Given the description of an element on the screen output the (x, y) to click on. 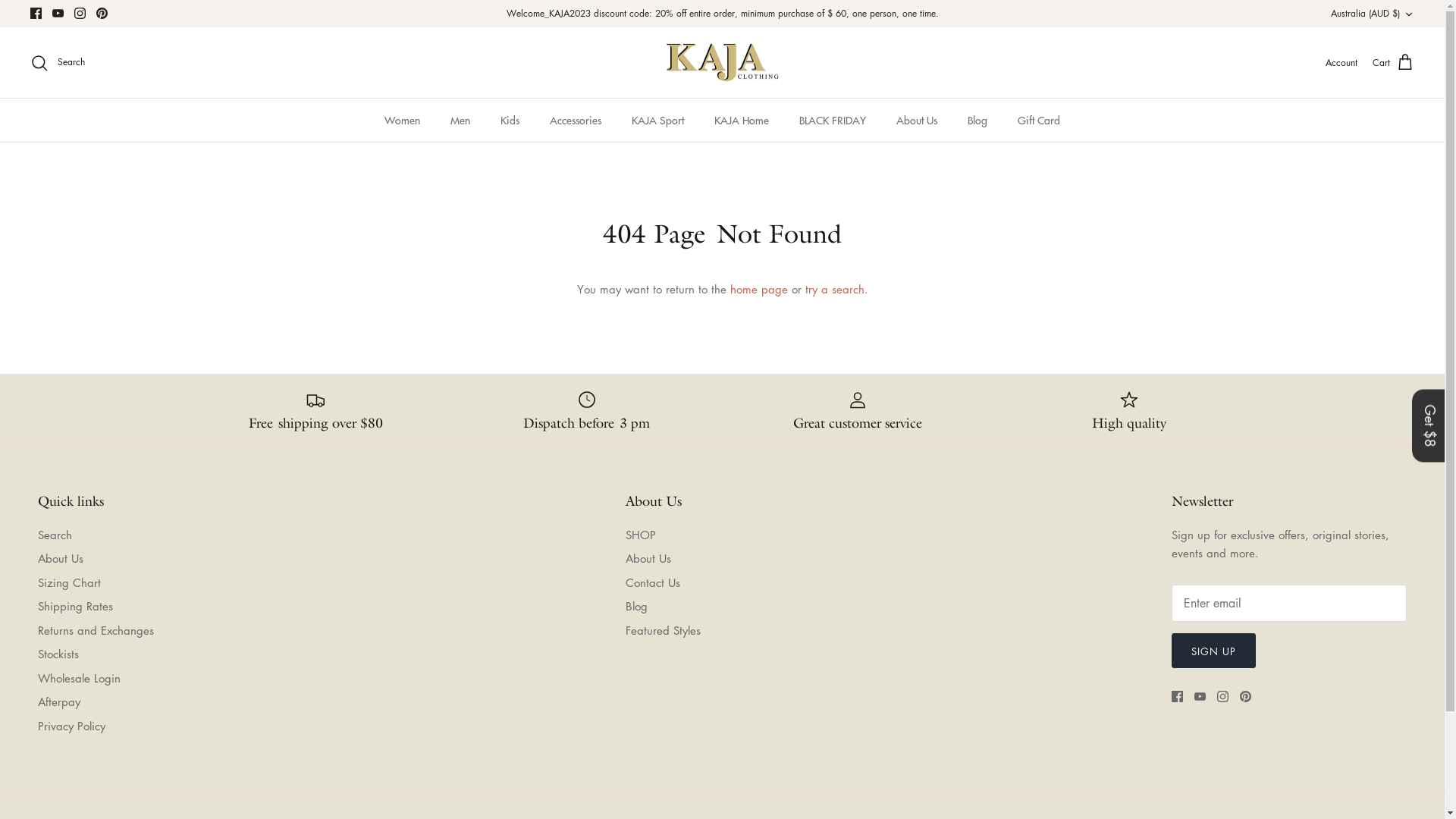
Youtube Element type: text (1199, 696)
KAJA Sport Element type: text (657, 119)
Returns and Exchanges Element type: text (95, 629)
Gift Card Element type: text (1038, 119)
Featured Styles Element type: text (661, 629)
Search Element type: text (54, 534)
Blog Element type: text (635, 605)
try a search Element type: text (834, 288)
home page Element type: text (758, 288)
Women Element type: text (401, 119)
Account Element type: text (1341, 62)
KAJA Home Element type: text (741, 119)
Afterpay Element type: text (58, 701)
About Us Element type: text (647, 557)
Cart Element type: text (1393, 62)
About Us Element type: text (916, 119)
Search Element type: text (57, 62)
Facebook Element type: text (35, 12)
Blog Element type: text (977, 119)
Kids Element type: text (509, 119)
Facebook Element type: text (1177, 696)
Privacy Policy Element type: text (71, 725)
Contact Us Element type: text (651, 581)
SHOP Element type: text (639, 534)
Wholesale Login Element type: text (78, 677)
About Us Element type: text (60, 557)
Stockists Element type: text (57, 653)
Pinterest Element type: text (1245, 696)
Pinterest Element type: text (101, 12)
SIGN UP Element type: text (1213, 650)
Youtube Element type: text (57, 12)
KAJA Clothing Element type: hover (722, 62)
Australia (AUD $)
Down Element type: text (1372, 13)
Shipping Rates Element type: text (74, 605)
Instagram Element type: text (1222, 696)
Sizing Chart Element type: text (68, 581)
BLACK FRIDAY Element type: text (832, 119)
Accessories Element type: text (575, 119)
Men Element type: text (459, 119)
Instagram Element type: text (79, 12)
